Given the description of an element on the screen output the (x, y) to click on. 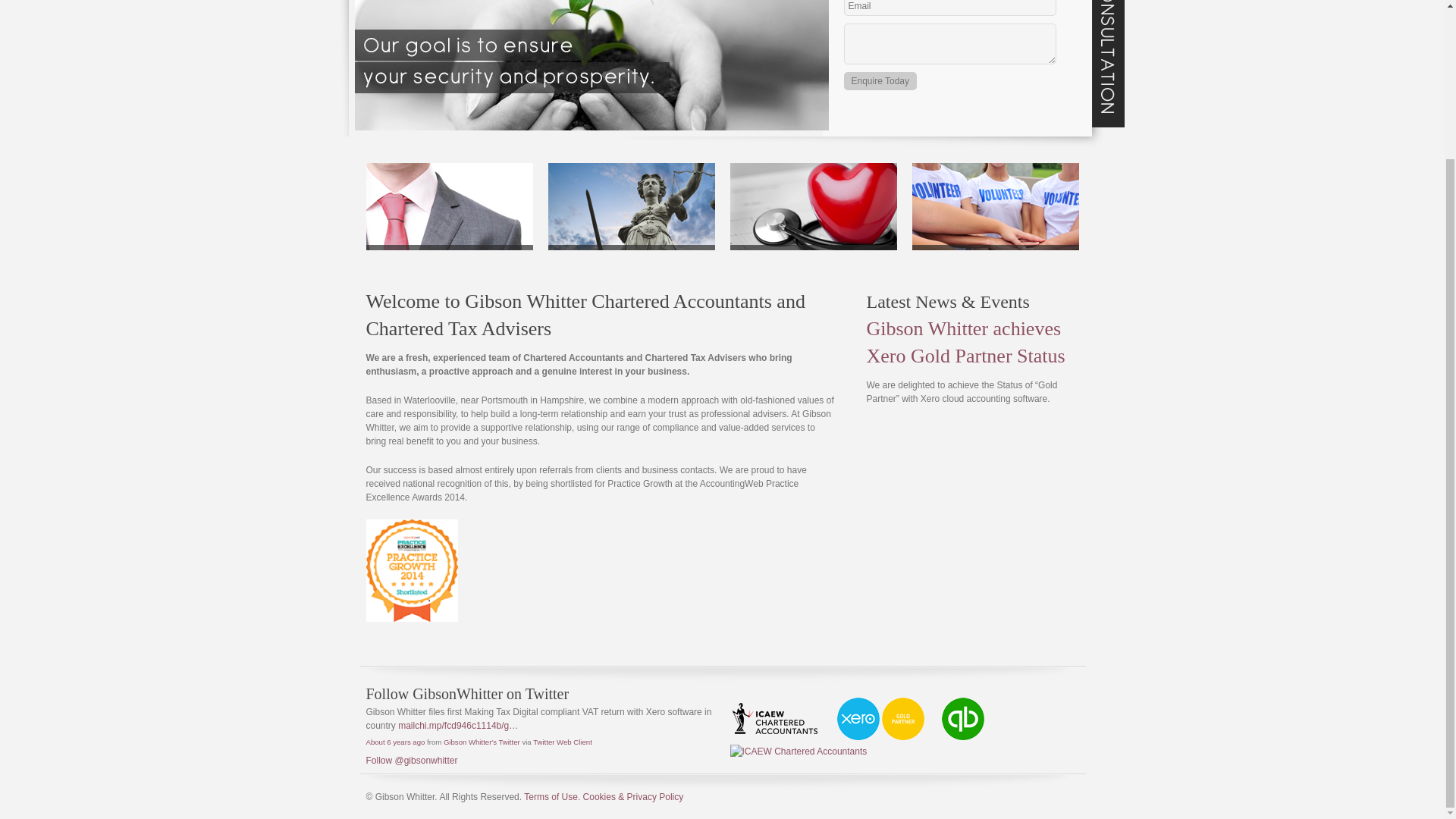
Gibson Whitter (481, 741)
Gibson Whitter achieves Xero Gold Partner Status (965, 341)
About 6 years ago (395, 741)
Twitter Web Client (562, 741)
Enquire Today (880, 81)
Enquire Today (880, 81)
img1 (591, 65)
Gibson Whitter's Twitter (481, 741)
